Given the description of an element on the screen output the (x, y) to click on. 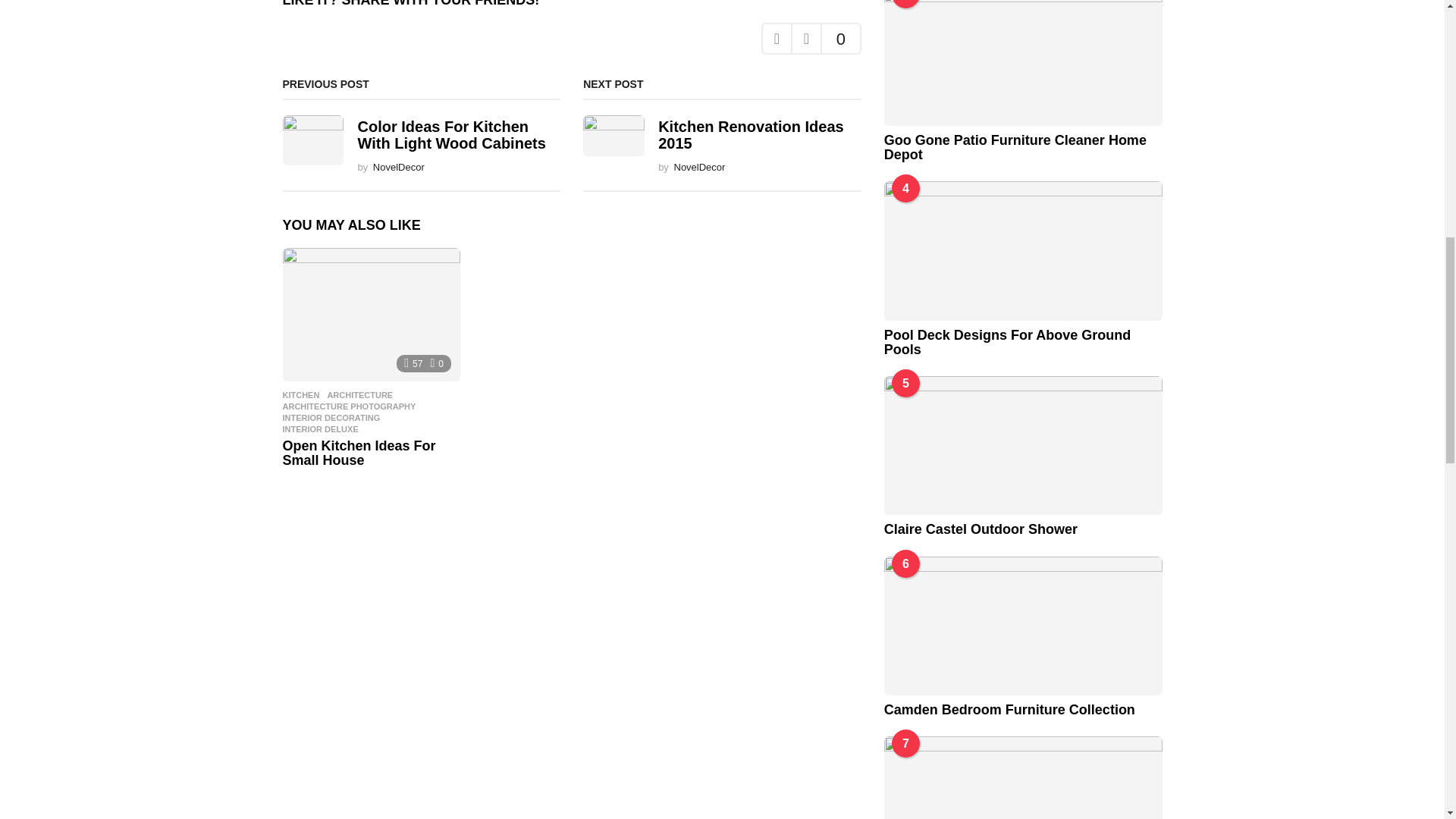
Camden Bedroom Furniture Collection (1022, 625)
Open Kitchen Ideas For Small House (371, 314)
Pool Deck Designs For Above Ground Pools (1022, 250)
Goo Gone Patio Furniture Cleaner Home Depot (1022, 62)
Claire Castel Outdoor Shower (1022, 445)
